Given the description of an element on the screen output the (x, y) to click on. 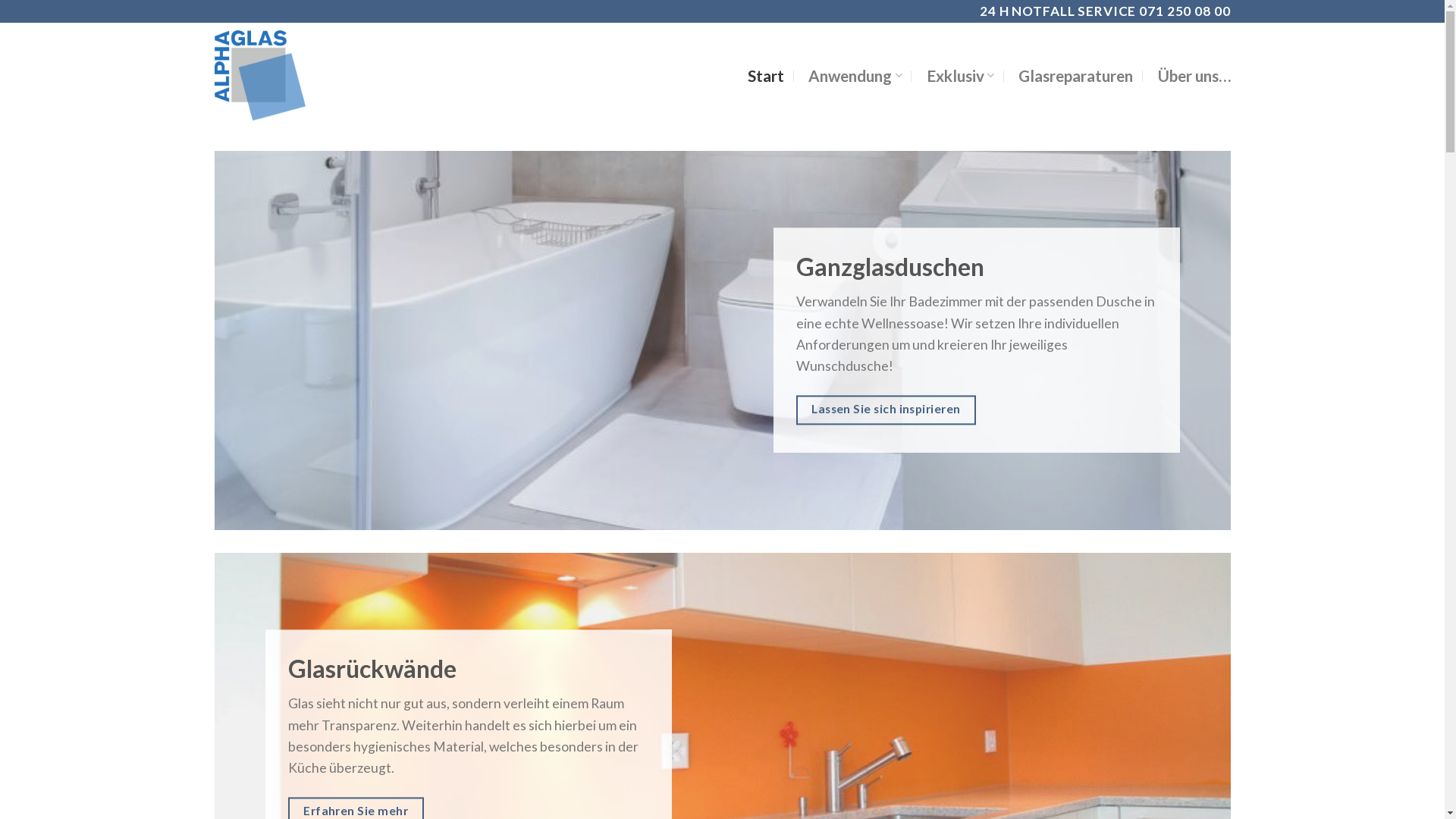
Start Element type: text (765, 75)
Glasreparaturen Element type: text (1075, 75)
Lassen Sie sich inspirieren Element type: text (886, 409)
071 250 08 00 Element type: text (1184, 10)
Anwendung Element type: text (854, 75)
Exklusiv Element type: text (960, 75)
